Given the description of an element on the screen output the (x, y) to click on. 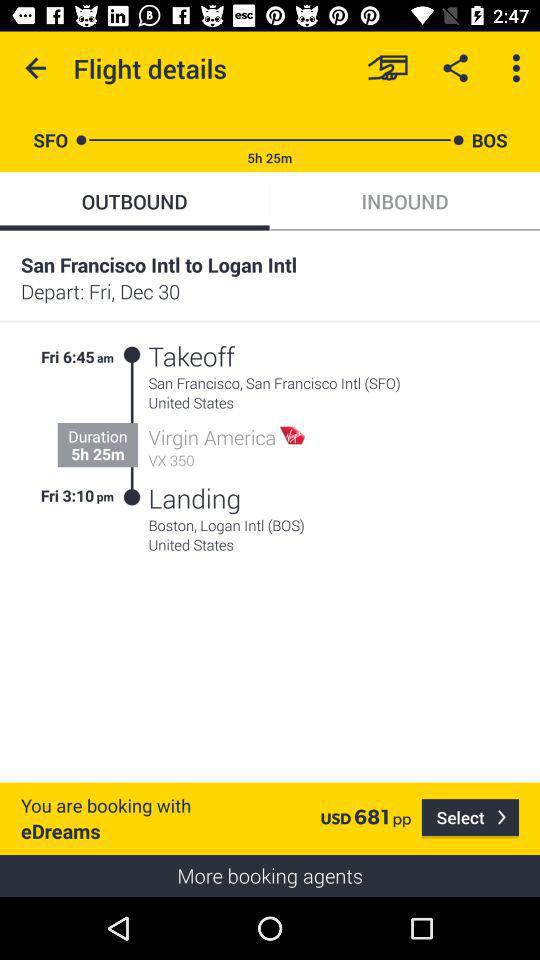
tap landing item (194, 497)
